Given the description of an element on the screen output the (x, y) to click on. 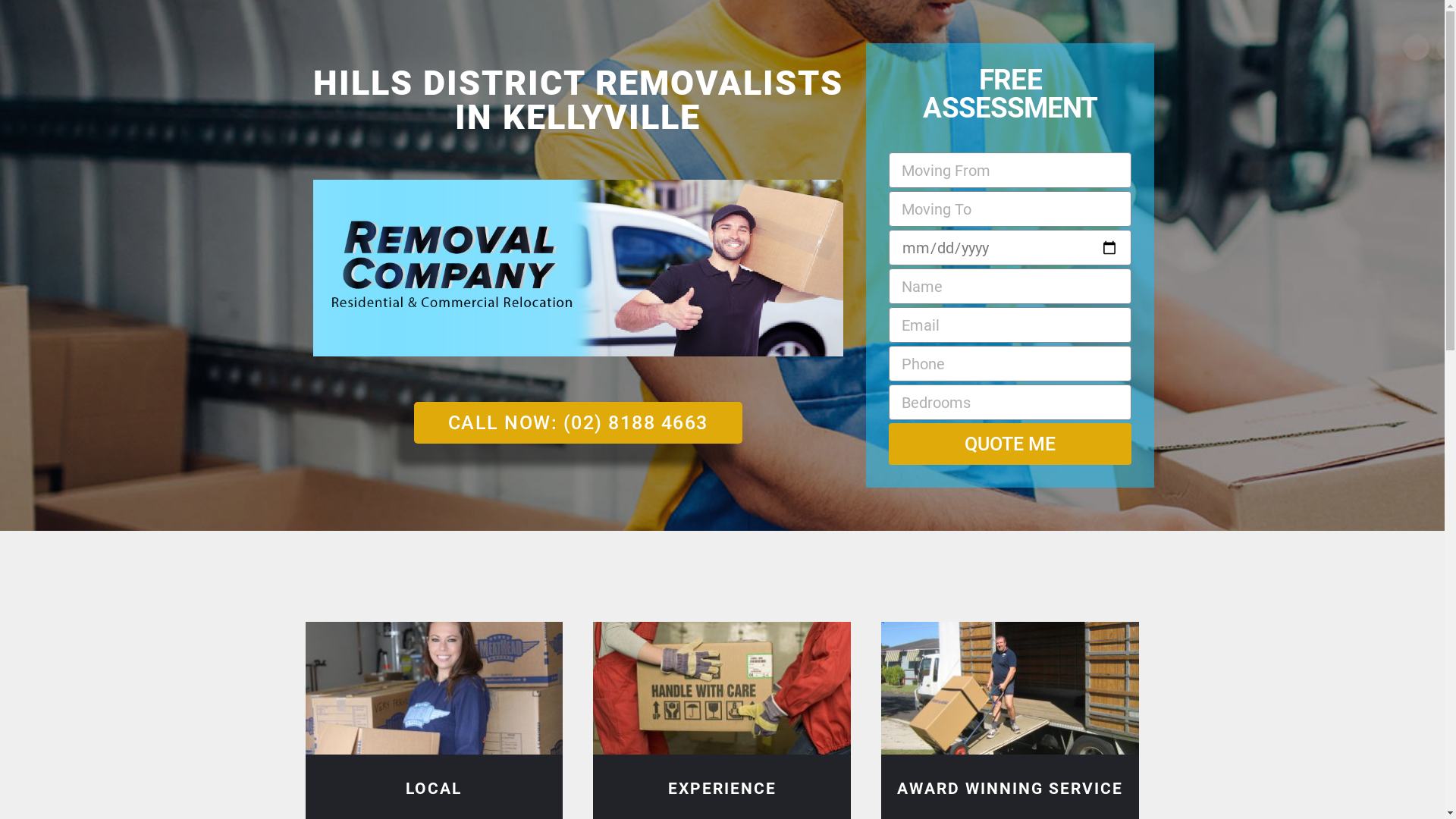
Experienced Removalists in Kellyville Element type: hover (721, 687)
Award Winning Removal Services Kellyville Element type: hover (1010, 687)
Local Removalists Kellyville Element type: hover (433, 687)
CALL NOW: (02) 8188 4663 Element type: text (578, 422)
QUOTE ME Element type: text (1009, 443)
